Given the description of an element on the screen output the (x, y) to click on. 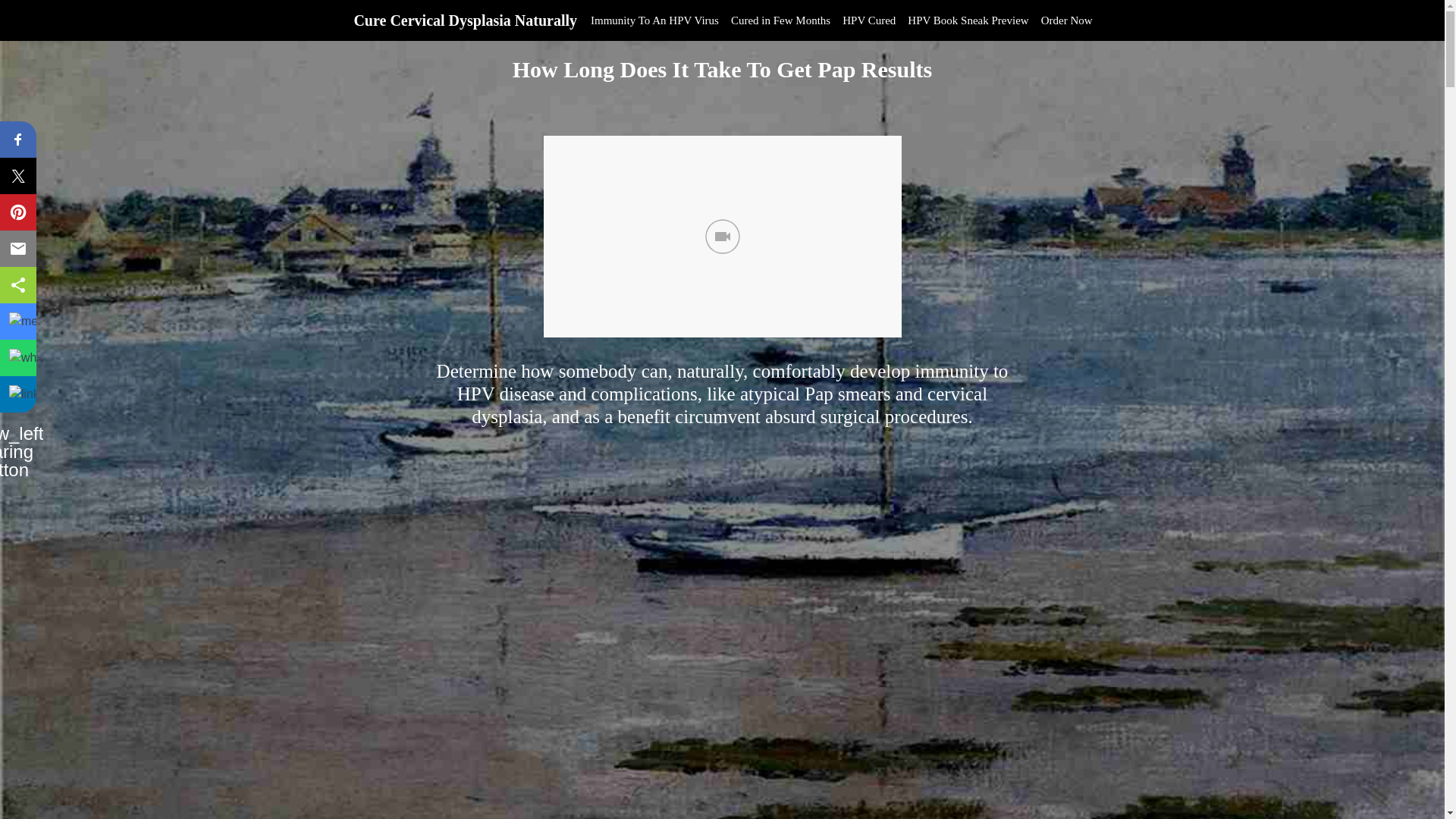
Cure Cervical Dysplasia Naturally (465, 20)
Order Now (1067, 20)
HPV Book Sneak Preview (967, 20)
HPV Cured (868, 20)
Cured in Few Months (780, 20)
Immunity To An HPV Virus (655, 20)
